Given the description of an element on the screen output the (x, y) to click on. 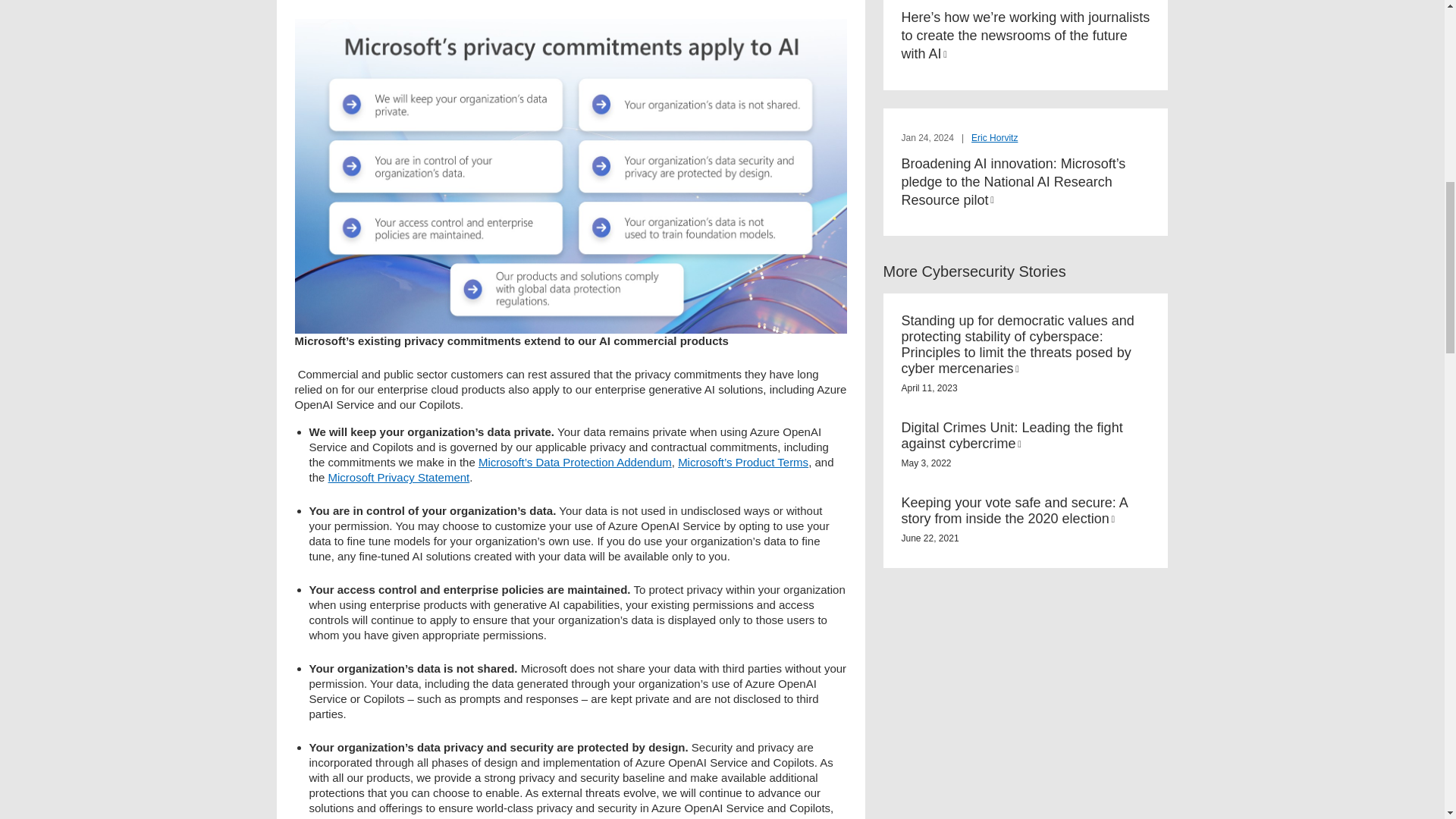
January 24, 2024 (928, 137)
